Given the description of an element on the screen output the (x, y) to click on. 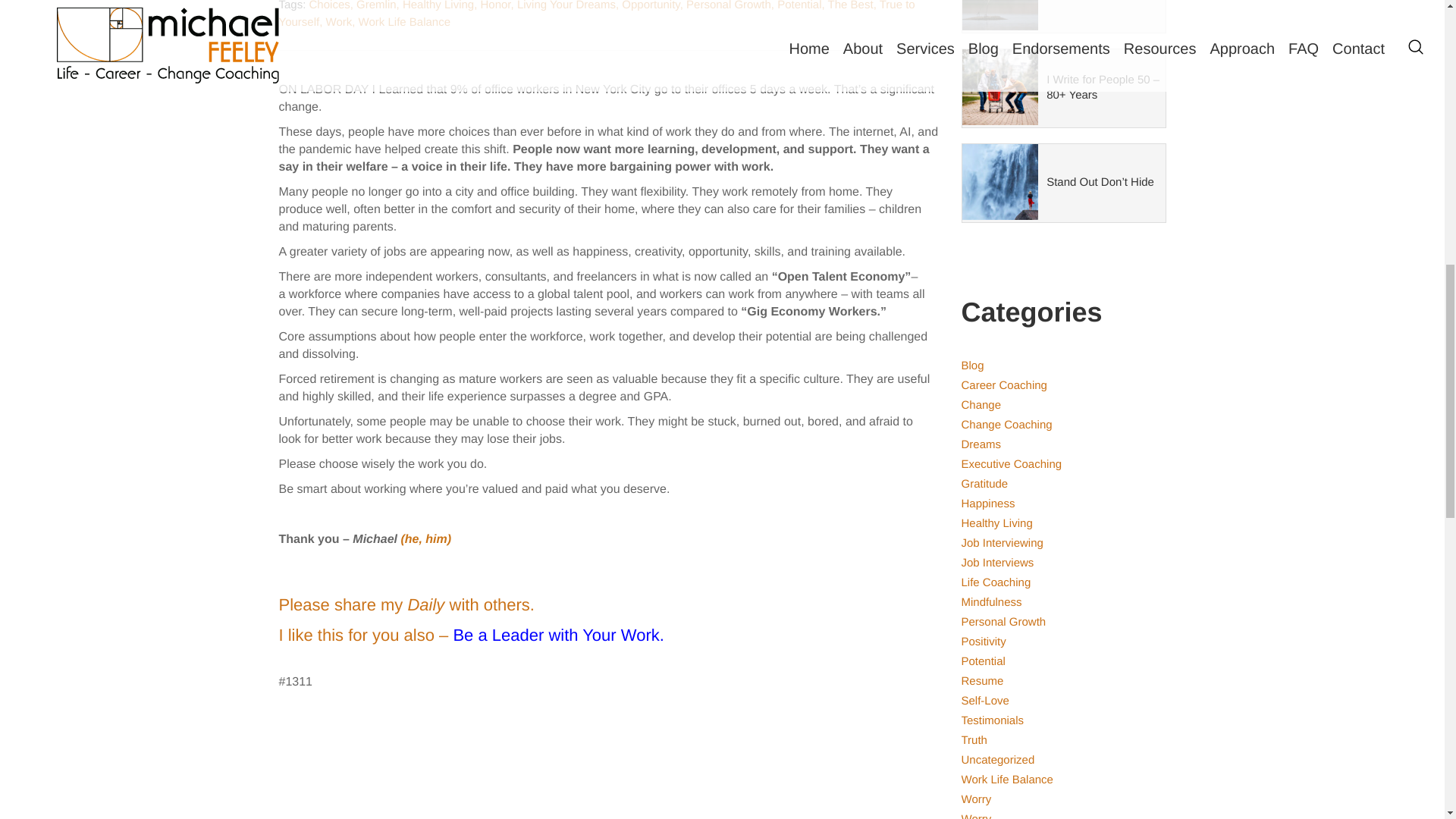
Read more: Acceptance (1062, 16)
Potential (799, 5)
Living Your Dreams (565, 5)
Healthy Living (438, 5)
The Best (850, 5)
Honor (495, 5)
Work (339, 21)
Opportunity (650, 5)
True to Yourself (597, 14)
Choices (329, 5)
